Given the description of an element on the screen output the (x, y) to click on. 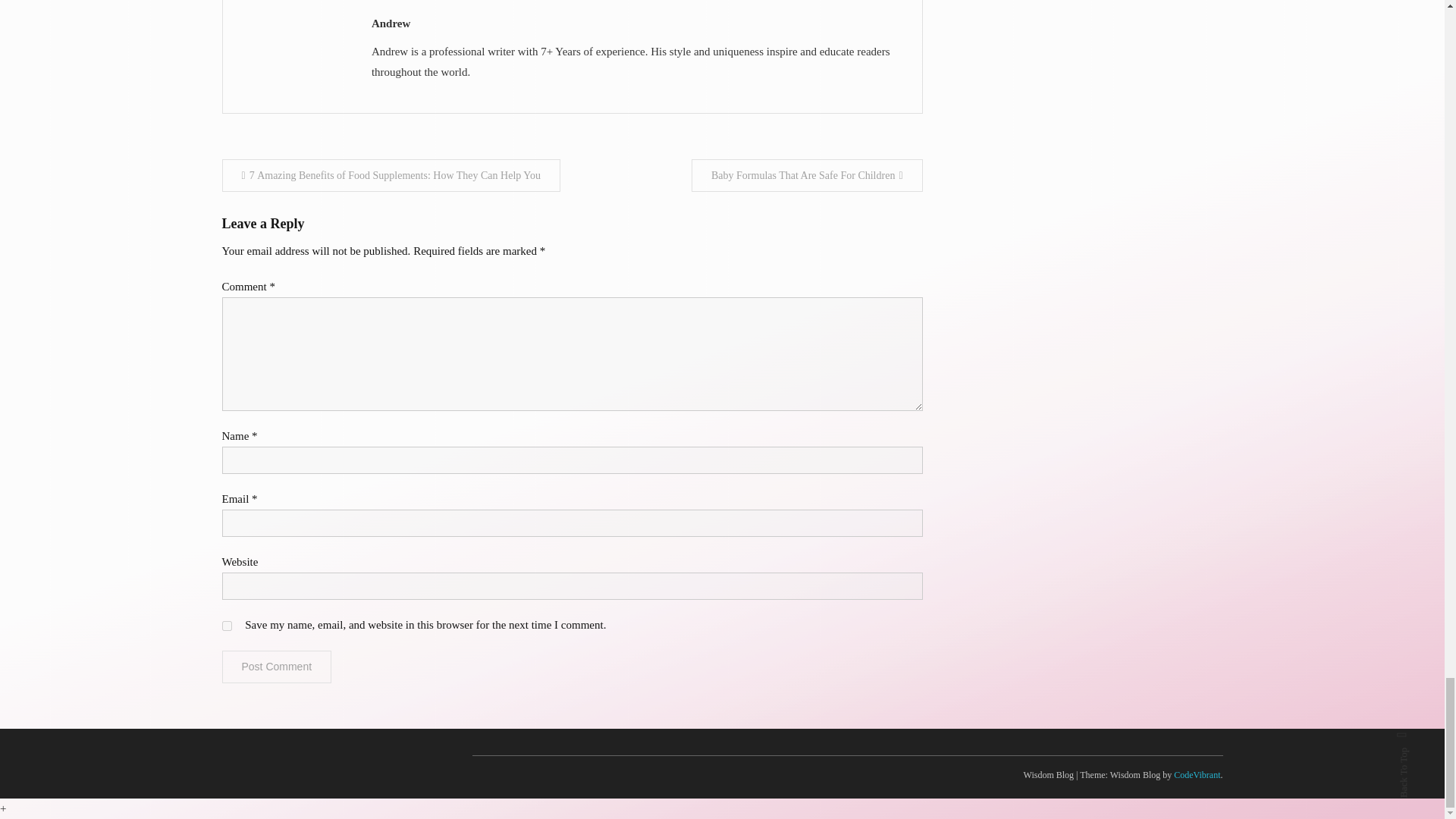
Post Comment (276, 666)
Post Comment (276, 666)
Baby Formulas That Are Safe For Children (807, 174)
yes (226, 625)
Andrew (639, 23)
